Given the description of an element on the screen output the (x, y) to click on. 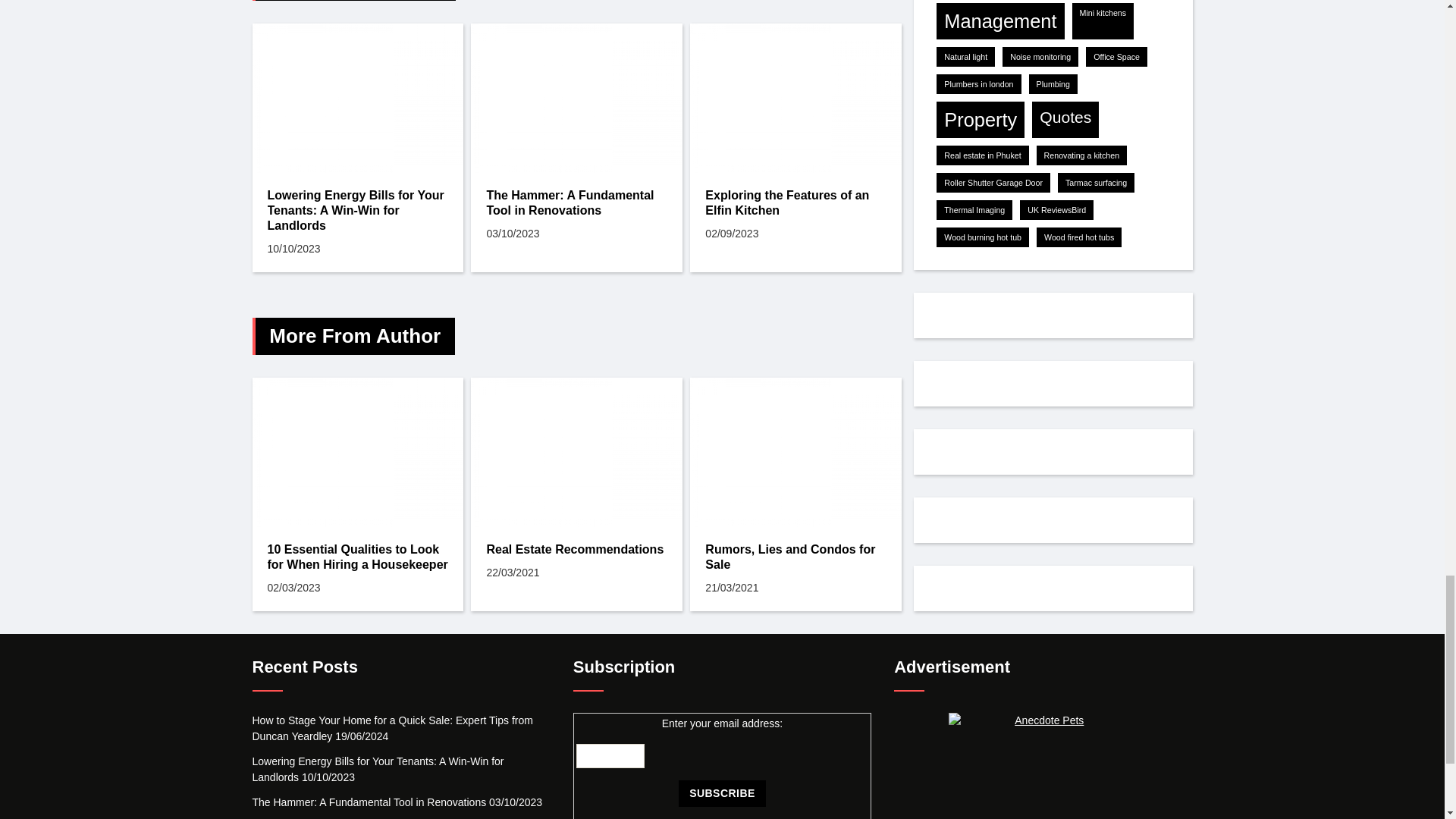
The Hammer: A Fundamental Tool in Renovations (576, 97)
Real Estate Recommendations (576, 549)
Subscribe (721, 793)
Exploring the Features of an Elfin Kitchen (795, 203)
The Hammer: A Fundamental Tool in Renovations (576, 203)
Rumors, Lies and Condos for Sale (795, 557)
10 Essential Qualities to Look for When Hiring a Housekeeper (357, 452)
Rumors, Lies and Condos for Sale (795, 452)
10 Essential Qualities to Look for When Hiring a Housekeeper (357, 557)
